Given the description of an element on the screen output the (x, y) to click on. 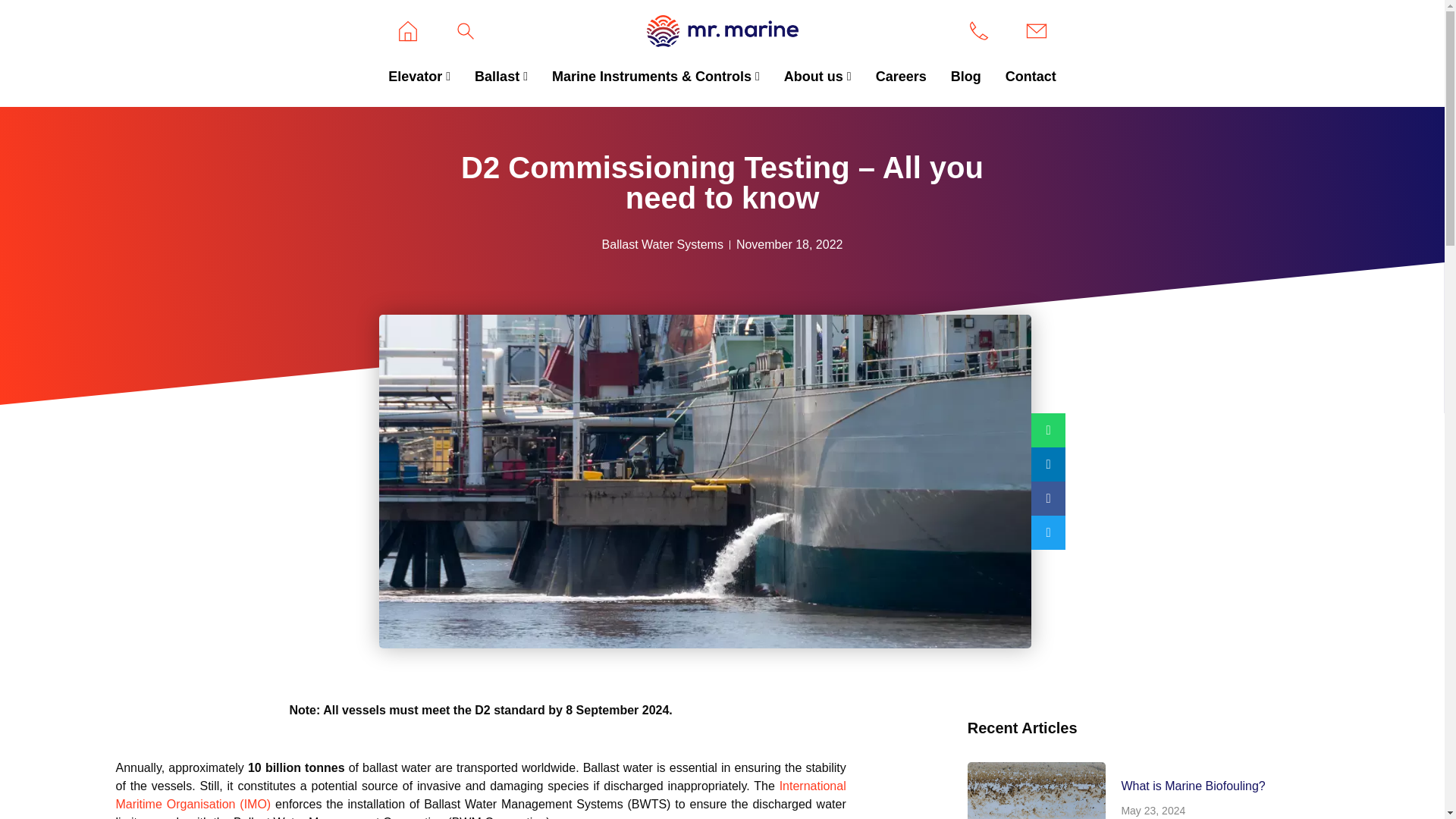
Ballast (501, 76)
Elevator (419, 76)
